Given the description of an element on the screen output the (x, y) to click on. 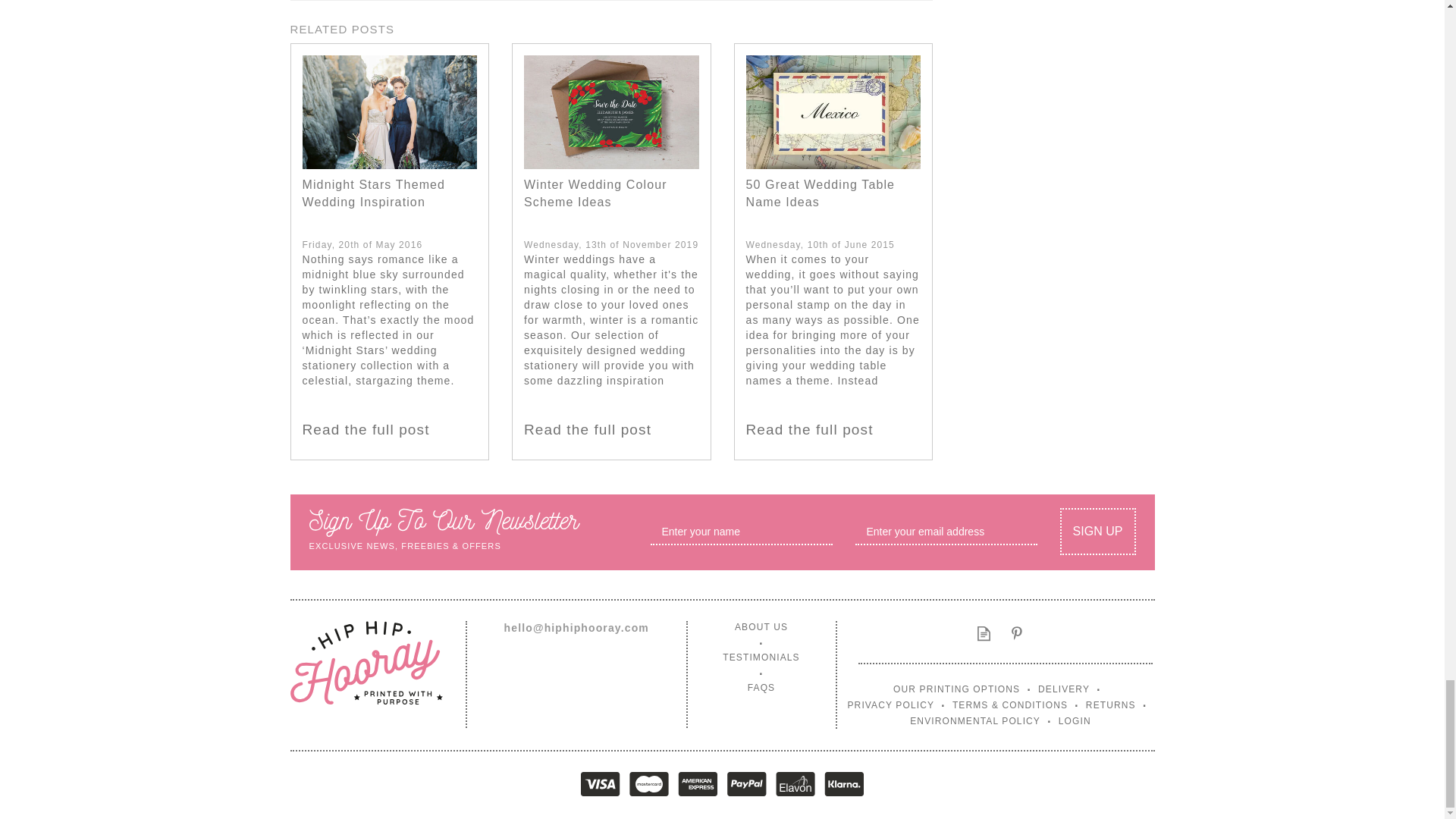
FAQs (761, 687)
Privacy Policy (895, 703)
Testimonials (761, 664)
About Us (761, 633)
Delivery (1070, 687)
Our Printing Options (962, 687)
